Given the description of an element on the screen output the (x, y) to click on. 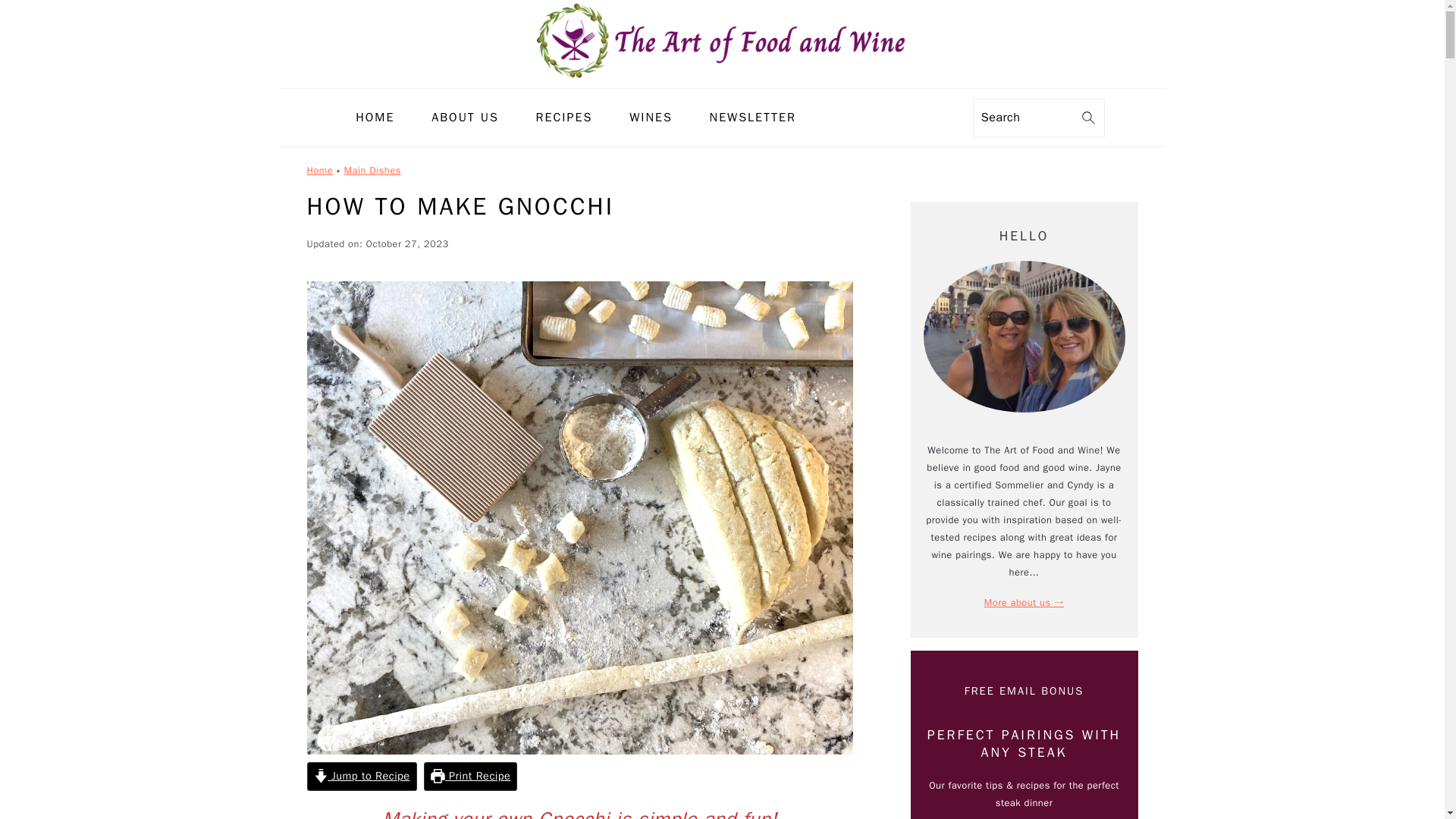
The Art of Food and Wine (721, 40)
Twitter (925, 117)
Pinterest (898, 117)
WINES (650, 117)
Pinterest (898, 117)
RECIPES (563, 117)
Instagram (871, 117)
Instagram (870, 117)
Facebook (843, 117)
